Given the description of an element on the screen output the (x, y) to click on. 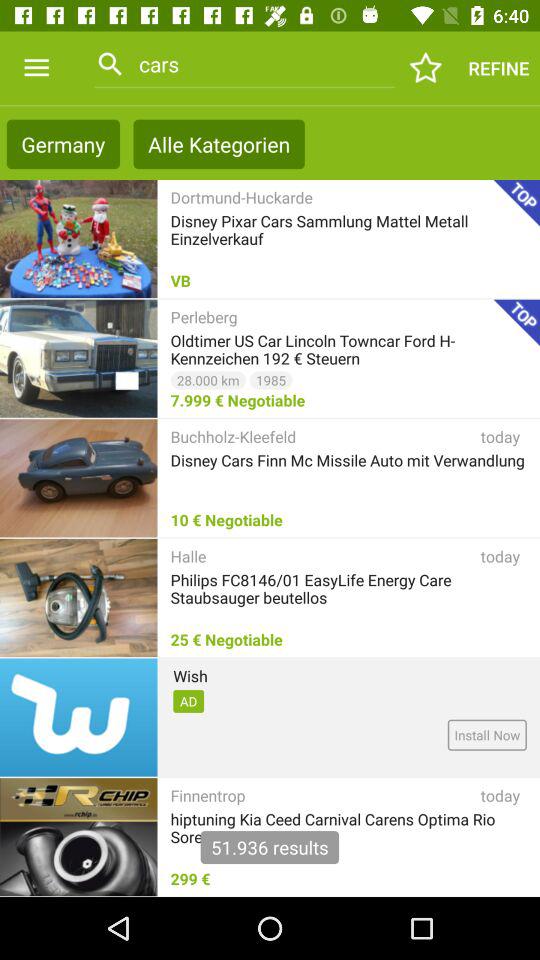
jump until the wish item (190, 675)
